Given the description of an element on the screen output the (x, y) to click on. 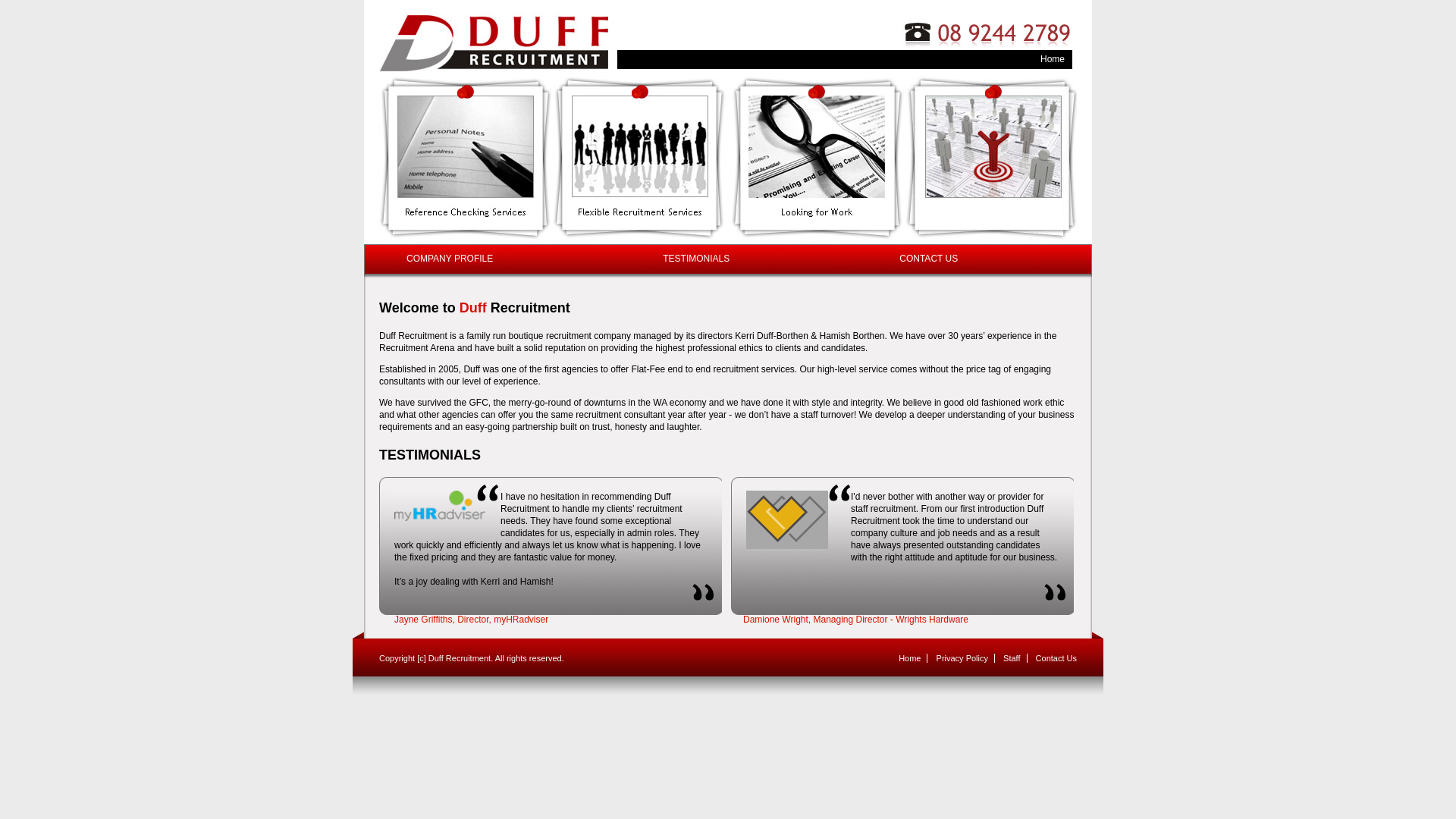
Privacy Policy Element type: text (962, 657)
Online and Verbal Reference Checking Services Element type: hover (465, 160)
Flexible Recruitment Services Element type: hover (640, 160)
Staff Element type: text (1011, 657)
Contact Us Element type: text (1055, 657)
Home Element type: text (909, 657)
TESTIMONIALS Element type: text (695, 258)
CONTACT US Element type: text (928, 258)
Looking for Work Element type: hover (816, 160)
COMPANY PROFILE Element type: text (449, 258)
Home Element type: text (1052, 58)
Current Candidates Element type: hover (990, 160)
